Given the description of an element on the screen output the (x, y) to click on. 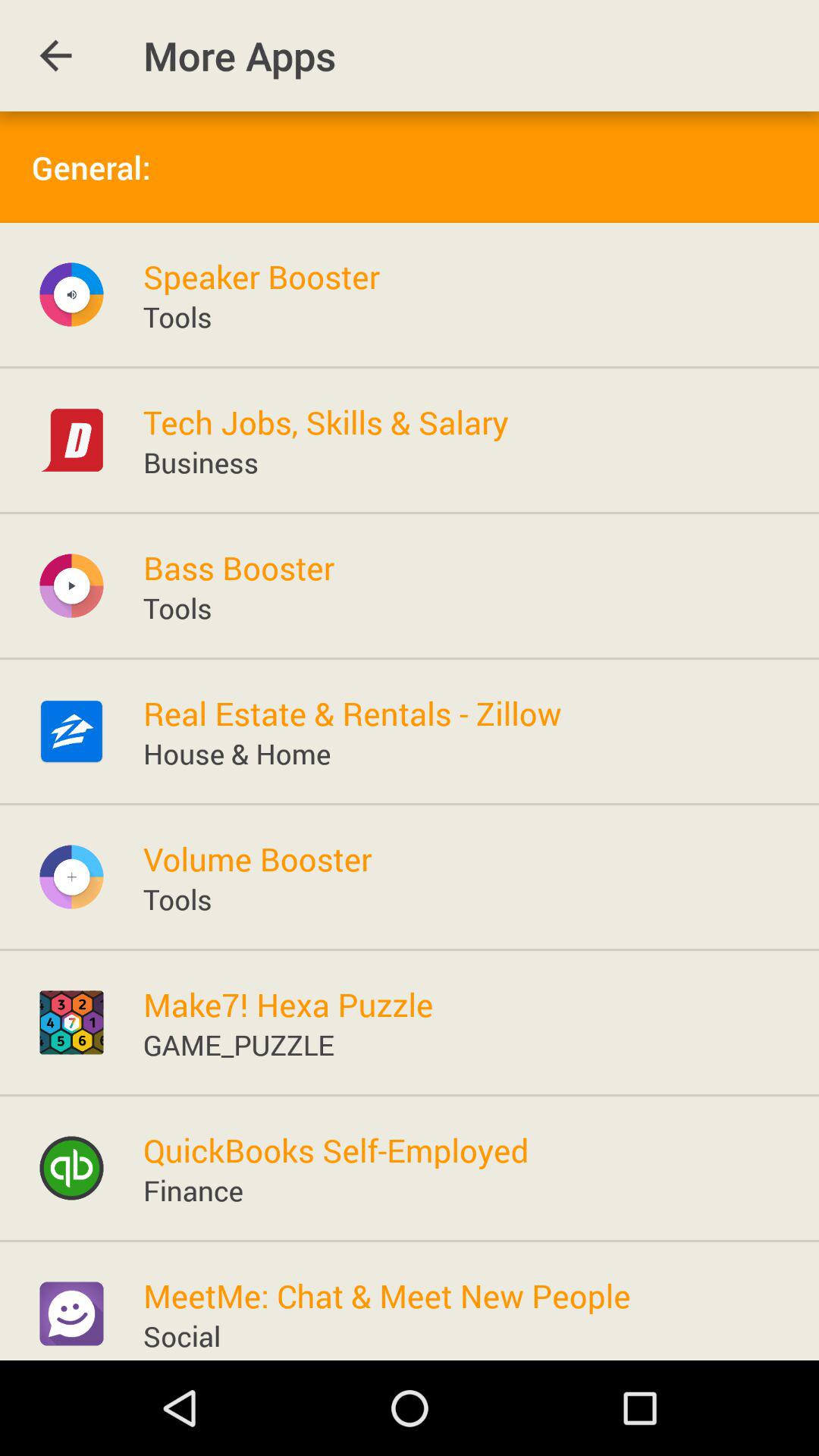
select item above bass booster icon (200, 461)
